Given the description of an element on the screen output the (x, y) to click on. 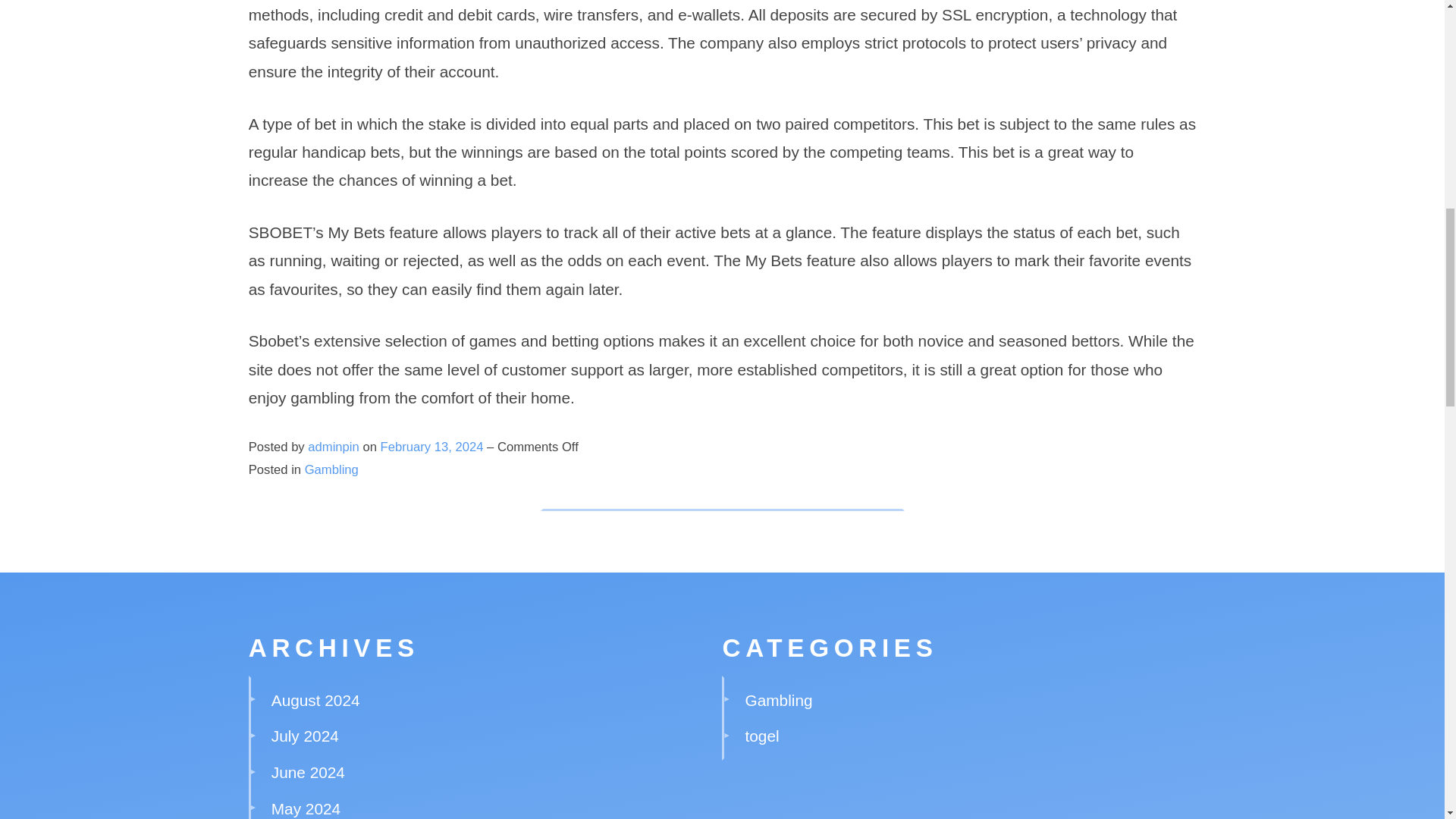
July 2024 (304, 735)
May 2024 (305, 808)
adminpin (332, 446)
February 13, 2024 (433, 446)
August 2024 (314, 700)
Gambling (331, 469)
June 2024 (307, 772)
